Given the description of an element on the screen output the (x, y) to click on. 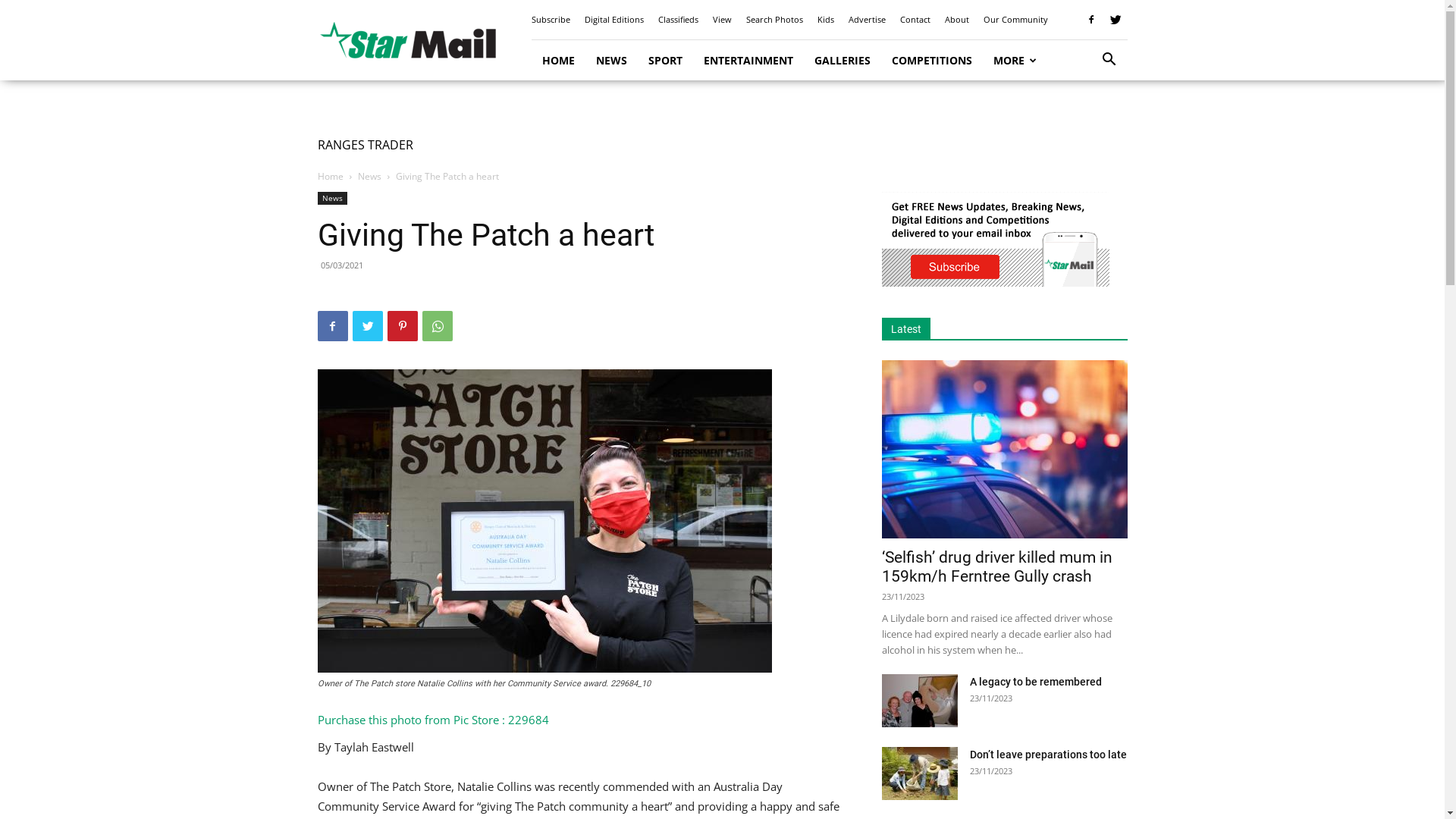
Digital Editions Element type: text (613, 19)
Advertise Element type: text (865, 19)
Kids Element type: text (825, 19)
GALLERIES Element type: text (842, 60)
Contact Element type: text (914, 19)
News Element type: text (331, 197)
NEWS Element type: text (611, 60)
ENTERTAINMENT Element type: text (748, 60)
HOME Element type: text (557, 60)
Our Community Element type: text (1014, 19)
Purchase this photo from Pic Store : 229684 Element type: text (432, 719)
Classifieds Element type: text (678, 19)
Pinterest Element type: hover (401, 325)
COMPETITIONS Element type: text (931, 60)
Facebook Element type: hover (1090, 19)
SPORT Element type: text (664, 60)
Facebook Element type: hover (331, 325)
Subscribe Element type: text (549, 19)
View Element type: text (721, 19)
Search Element type: text (1085, 122)
WhatsApp Element type: hover (436, 325)
Award_229684_10.jpg Element type: hover (543, 520)
MORE Element type: text (1015, 60)
About Element type: text (956, 19)
A legacy to be remembered Element type: text (1035, 681)
A legacy to be remembered Element type: hover (919, 700)
Search Photos Element type: text (774, 19)
News Element type: text (369, 175)
Twitter Element type: hover (1115, 19)
Home Element type: text (329, 175)
Twitter Element type: hover (366, 325)
